Given the description of an element on the screen output the (x, y) to click on. 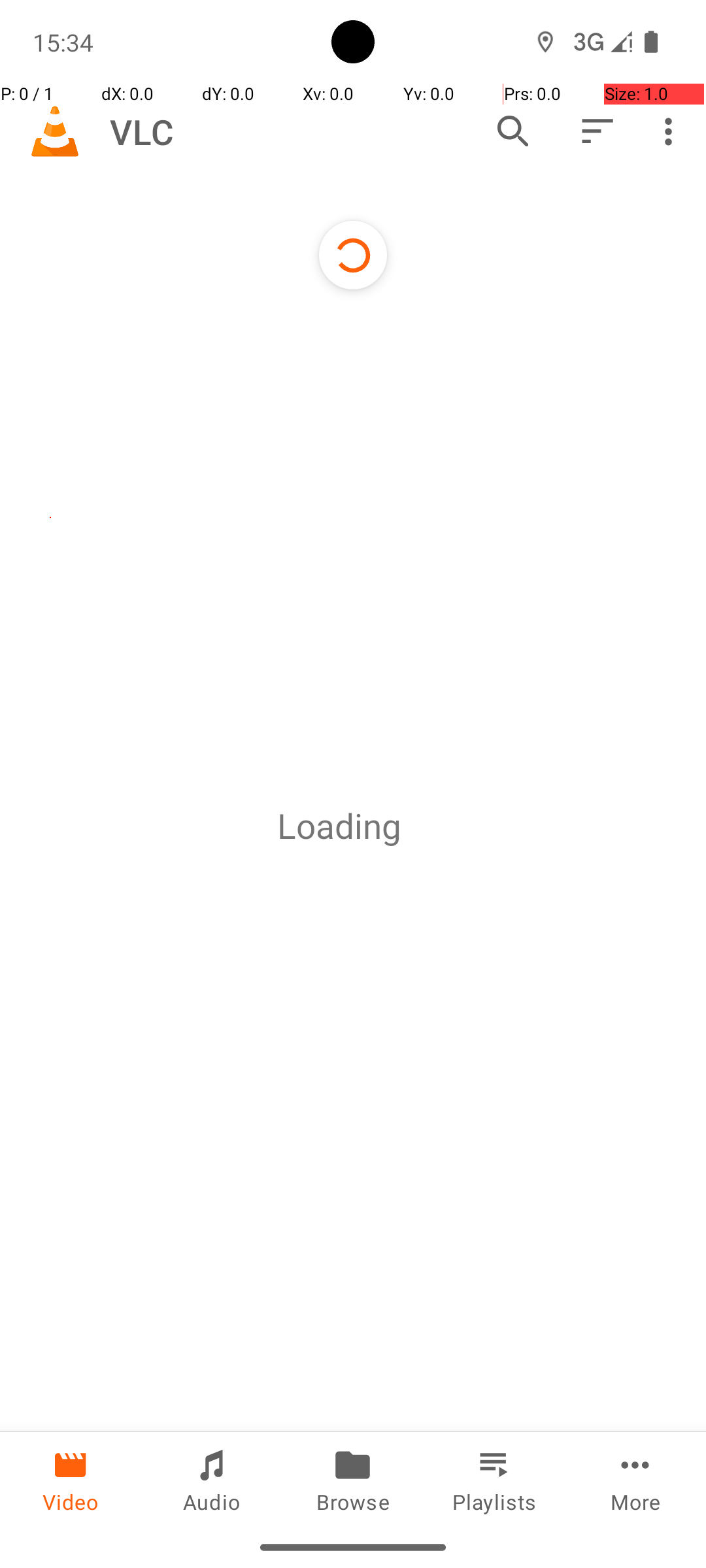
Sort by… Element type: android.widget.TextView (595, 131)
Loading Element type: android.widget.TextView (339, 825)
Video Element type: android.widget.FrameLayout (70, 1478)
Browse Element type: android.widget.FrameLayout (352, 1478)
